Given the description of an element on the screen output the (x, y) to click on. 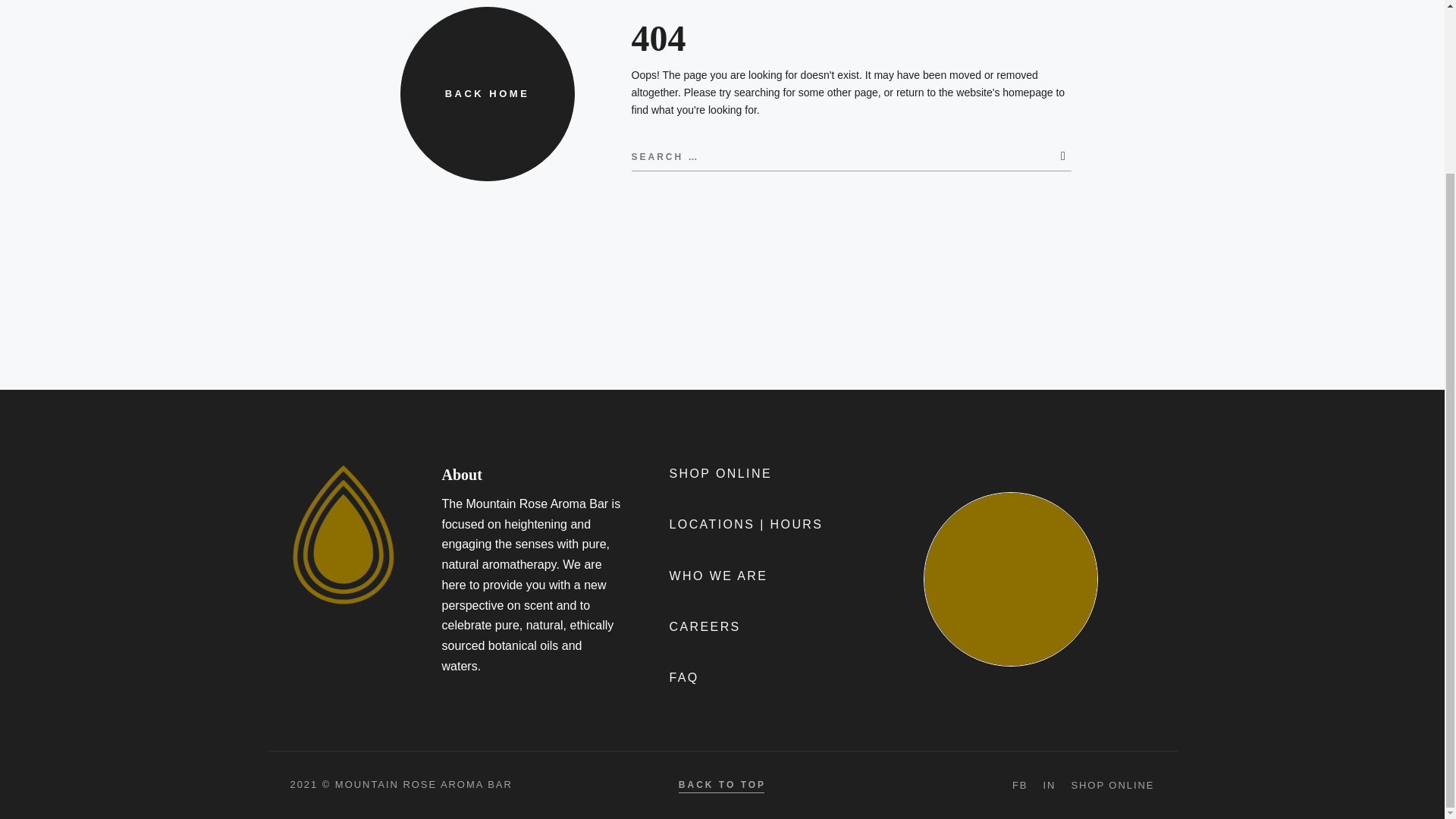
WHO WE ARE (717, 577)
BACK HOME (487, 93)
FAQ (683, 678)
EXPLORE OUR BLOG (1010, 579)
SHOP ONLINE (719, 475)
IN (1048, 784)
CAREERS (703, 628)
FB (1019, 784)
SHOP ONLINE (1112, 784)
